Given the description of an element on the screen output the (x, y) to click on. 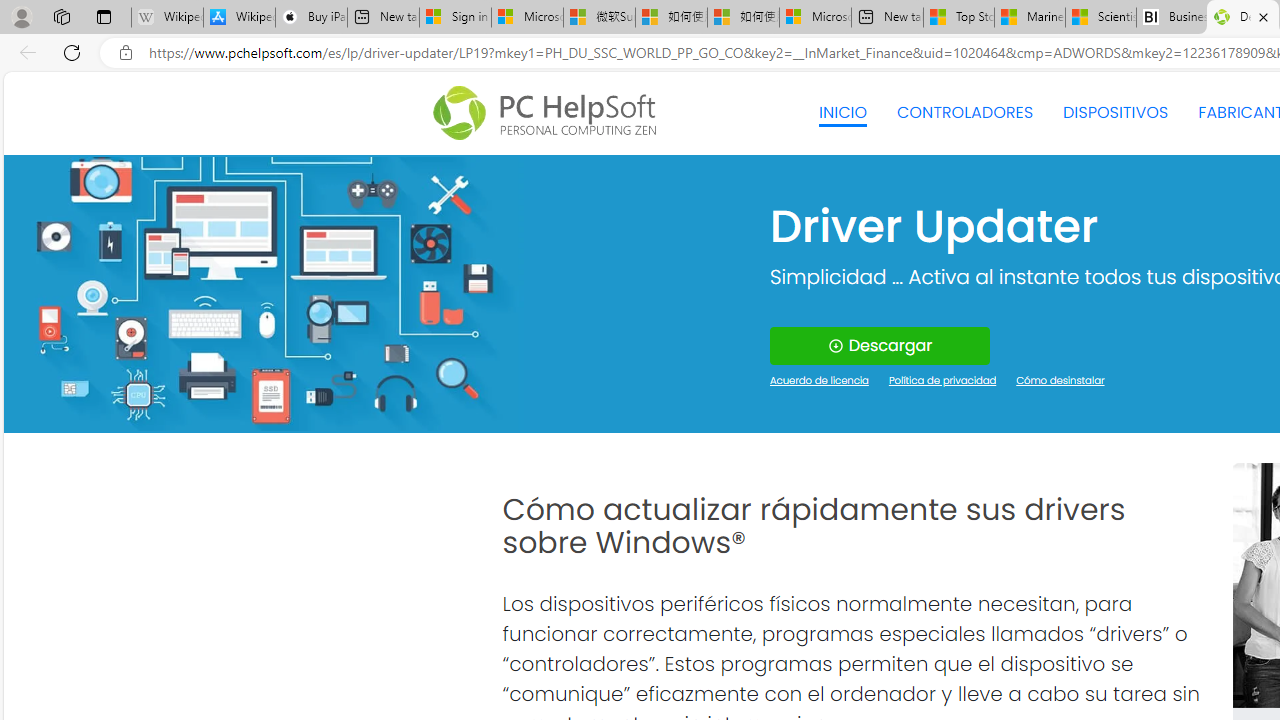
DISPOSITIVOS (1115, 112)
